Given the description of an element on the screen output the (x, y) to click on. 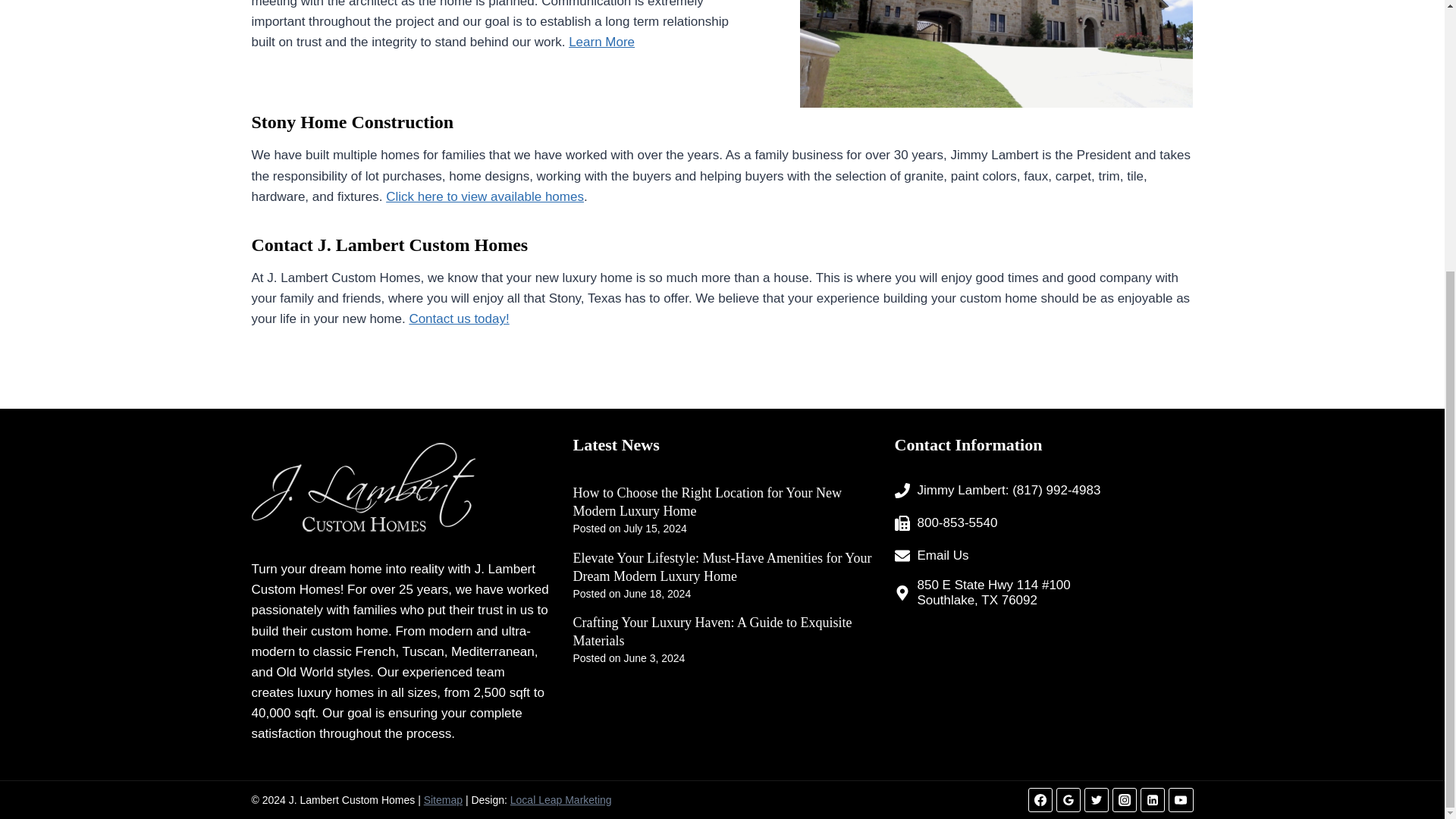
J. Lambert Custom Homes (393, 579)
Click here to view available homes (484, 196)
Sitemap (443, 799)
Email Us (932, 555)
Crafting Your Luxury Haven: A Guide to Exquisite Materials (722, 631)
Local Leap Marketing (561, 799)
Learn More (601, 42)
Stony, Texas Custom Home Builder (996, 53)
Contact us today! (458, 318)
